Given the description of an element on the screen output the (x, y) to click on. 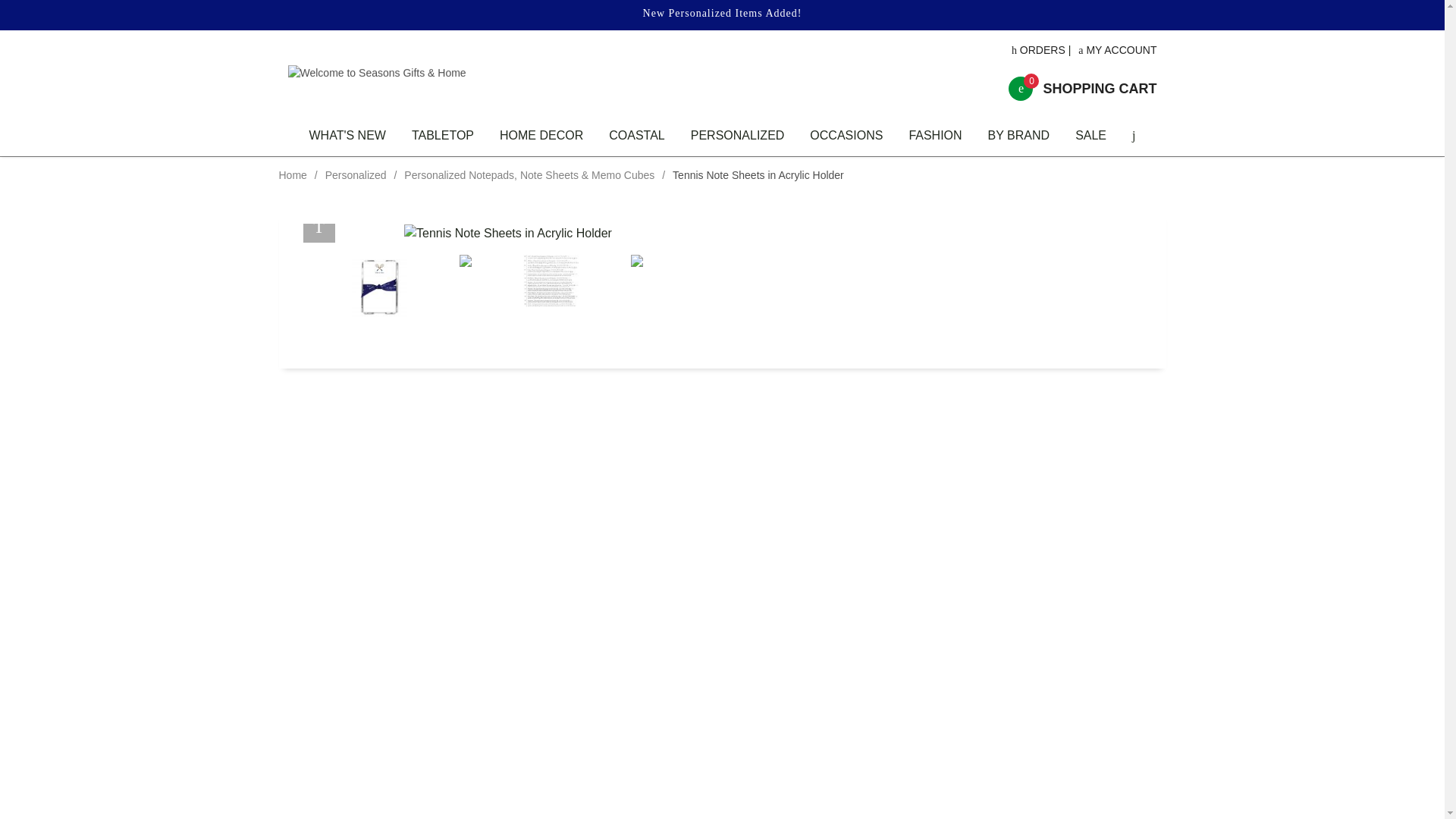
MY ACCOUNT (1117, 50)
ORDERS (1038, 50)
TABLETOP (442, 135)
seasonsgiftsandhome.com (427, 72)
Tennis Note Sheets in Acrylic Holder (507, 233)
WHAT'S NEW (1082, 87)
Home (346, 135)
Personalized (293, 174)
HOME DECOR (355, 174)
